Given the description of an element on the screen output the (x, y) to click on. 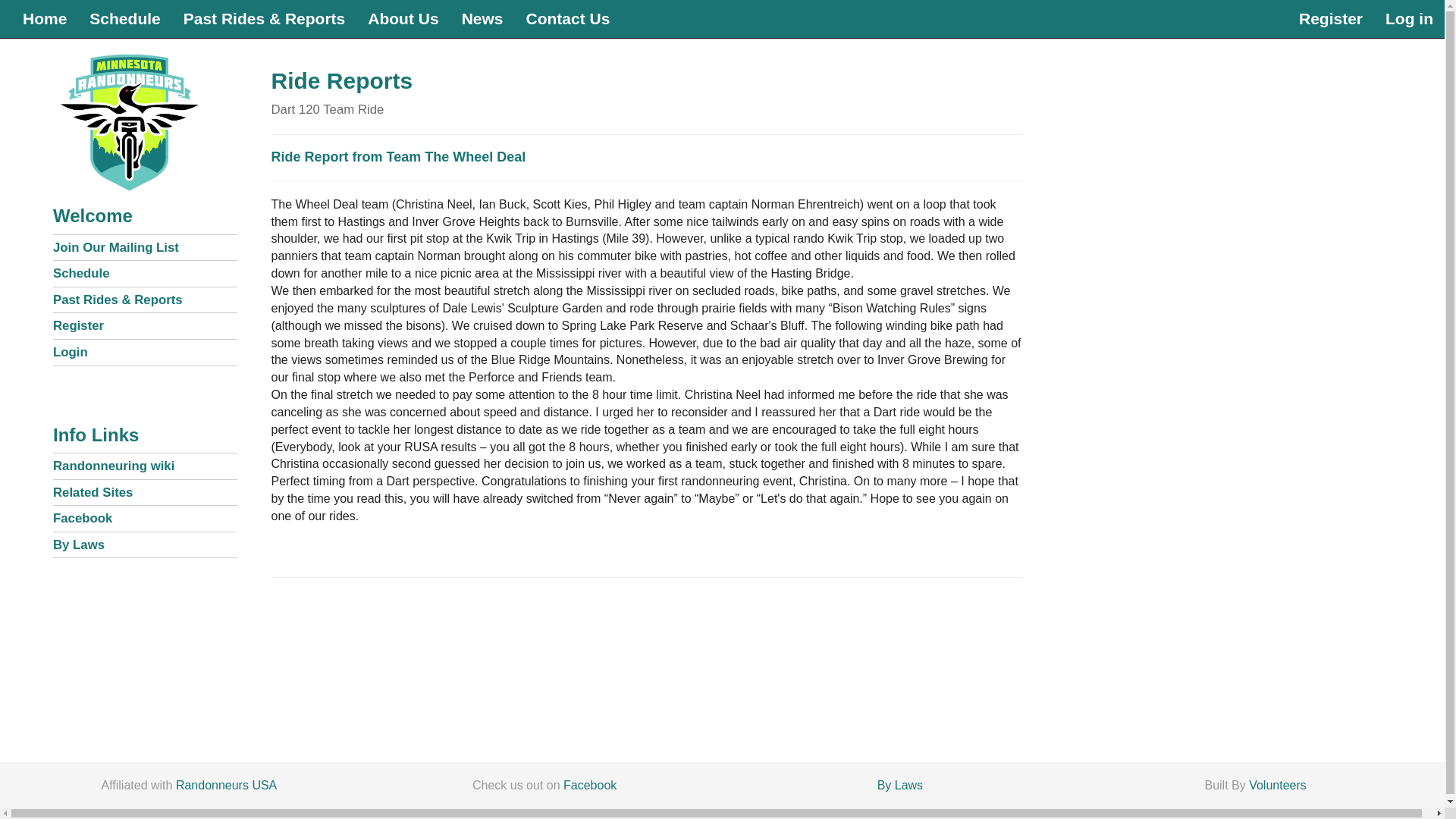
Home (44, 18)
Log in (1409, 18)
Login (69, 351)
Register (77, 325)
Join Our Mailing List (115, 247)
Register (1330, 18)
Related Sites (92, 492)
Contact Us (567, 18)
By Laws (78, 544)
News (482, 18)
